Given the description of an element on the screen output the (x, y) to click on. 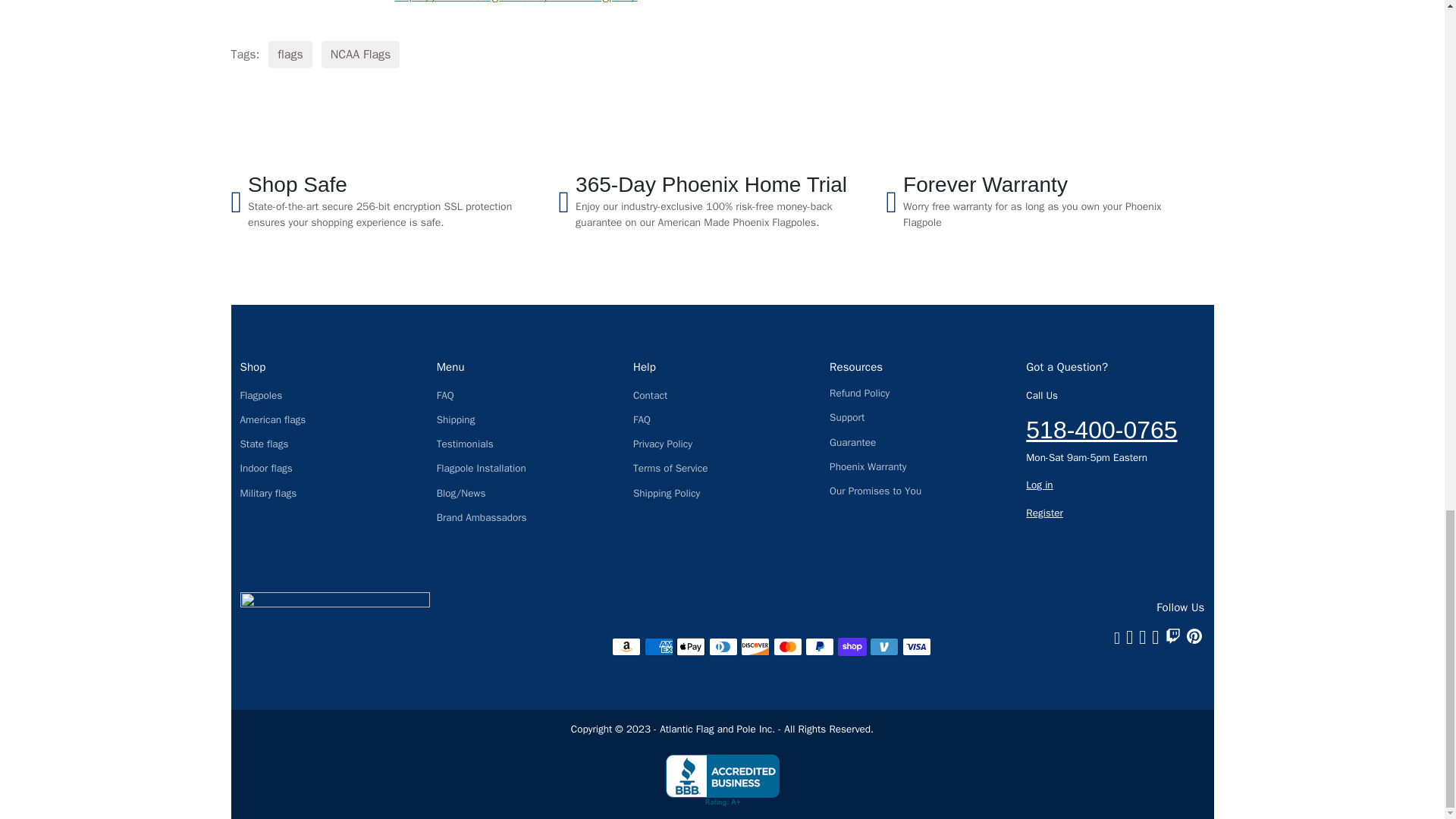
tel:518-400-0765 (1101, 429)
Visa (916, 647)
Diners Club (723, 647)
Discover (755, 647)
Amazon (625, 647)
Mastercard (787, 647)
Venmo (883, 647)
Shop Pay (852, 647)
Apple Pay (690, 647)
PayPal (819, 647)
